Given the description of an element on the screen output the (x, y) to click on. 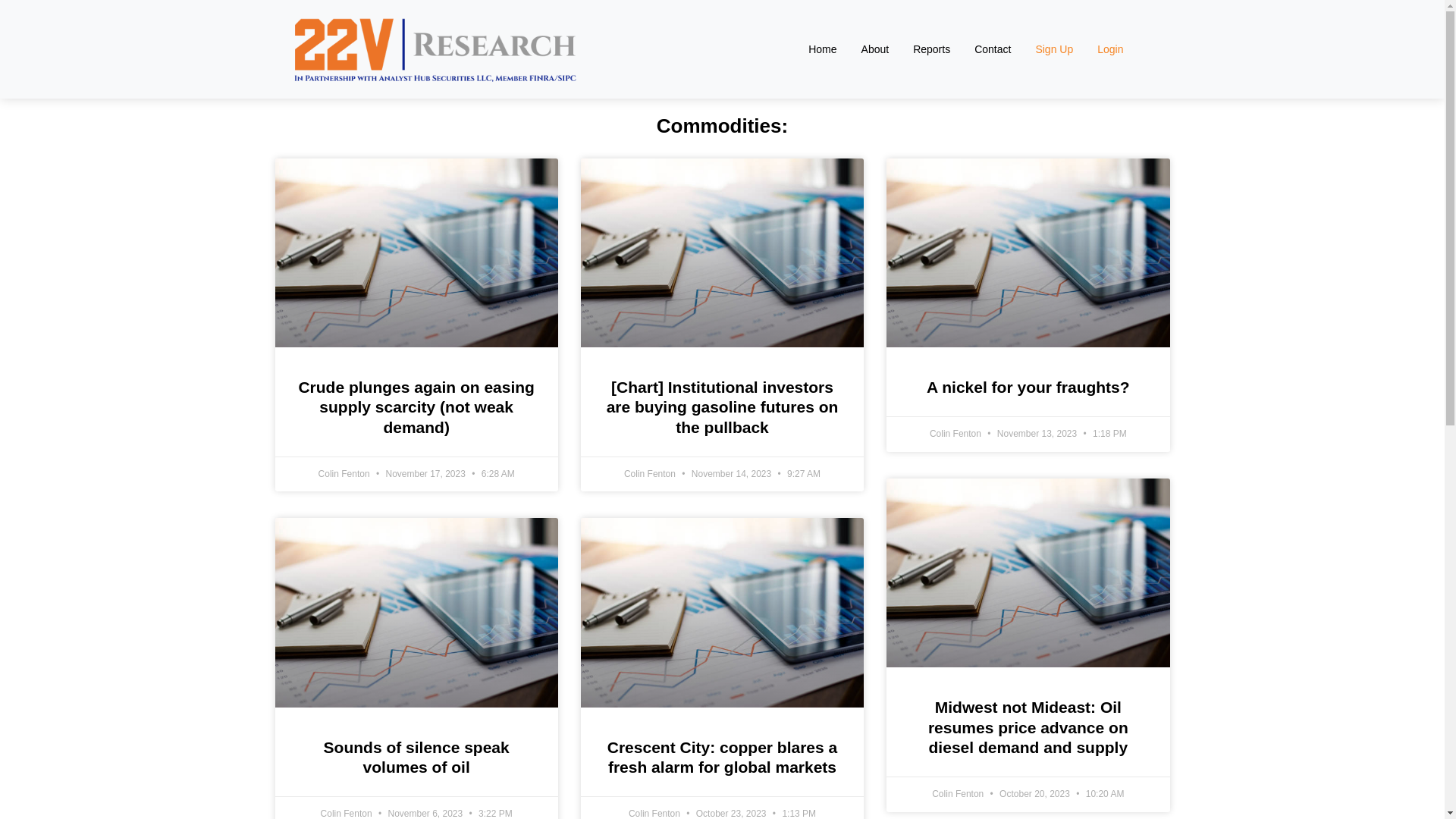
A nickel for your fraughts? Element type: text (1027, 386)
Sign Up Element type: text (1053, 48)
Login Element type: text (1110, 48)
Sounds of silence speak volumes of oil Element type: text (416, 756)
Reports Element type: text (931, 48)
About Element type: text (875, 48)
Home Element type: text (822, 48)
Contact Element type: text (992, 48)
